Given the description of an element on the screen output the (x, y) to click on. 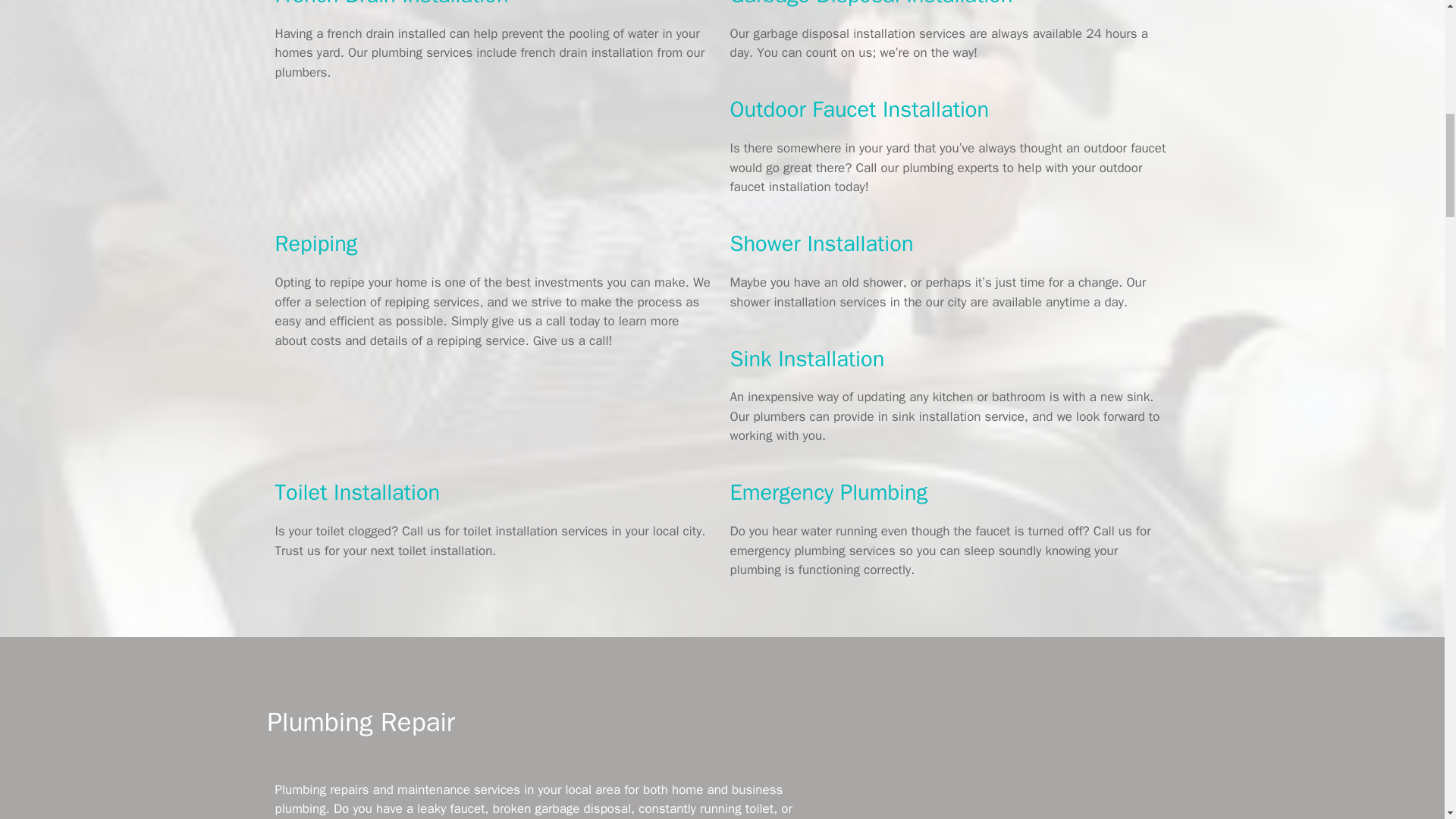
Avantel Plumbing Drain Cleaning and Water Heater Services (994, 799)
